Given the description of an element on the screen output the (x, y) to click on. 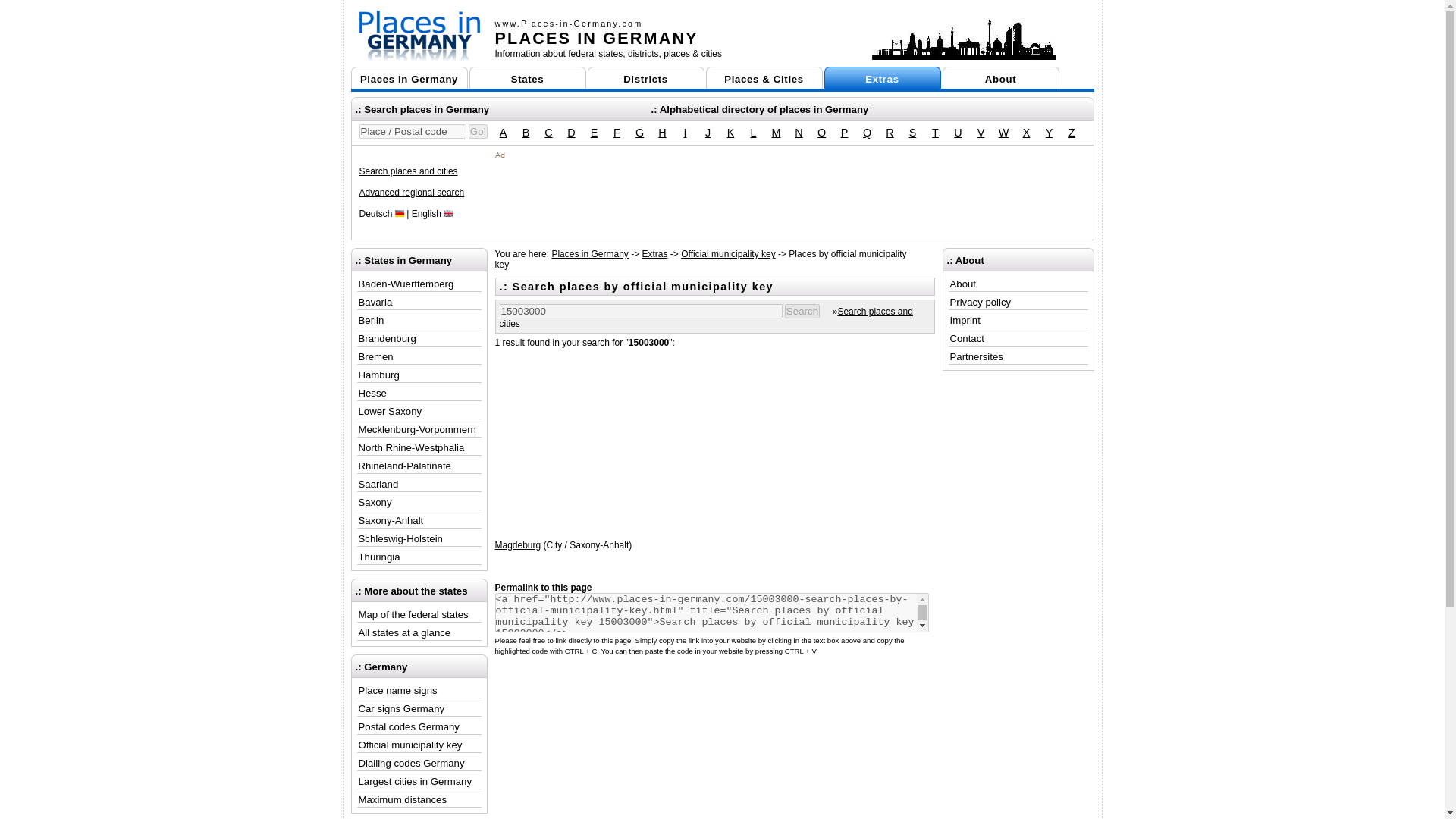
Advanced regional search (411, 192)
Extras (882, 77)
L (752, 132)
15003000 (640, 310)
C (547, 132)
Q (867, 132)
E (594, 132)
Places in Germany with first letter 'D' (570, 132)
Berlin (963, 38)
P (844, 132)
F (616, 132)
X (1026, 132)
Deutsch (376, 213)
M (776, 132)
Places in Germany with first letter 'A' (503, 132)
